Given the description of an element on the screen output the (x, y) to click on. 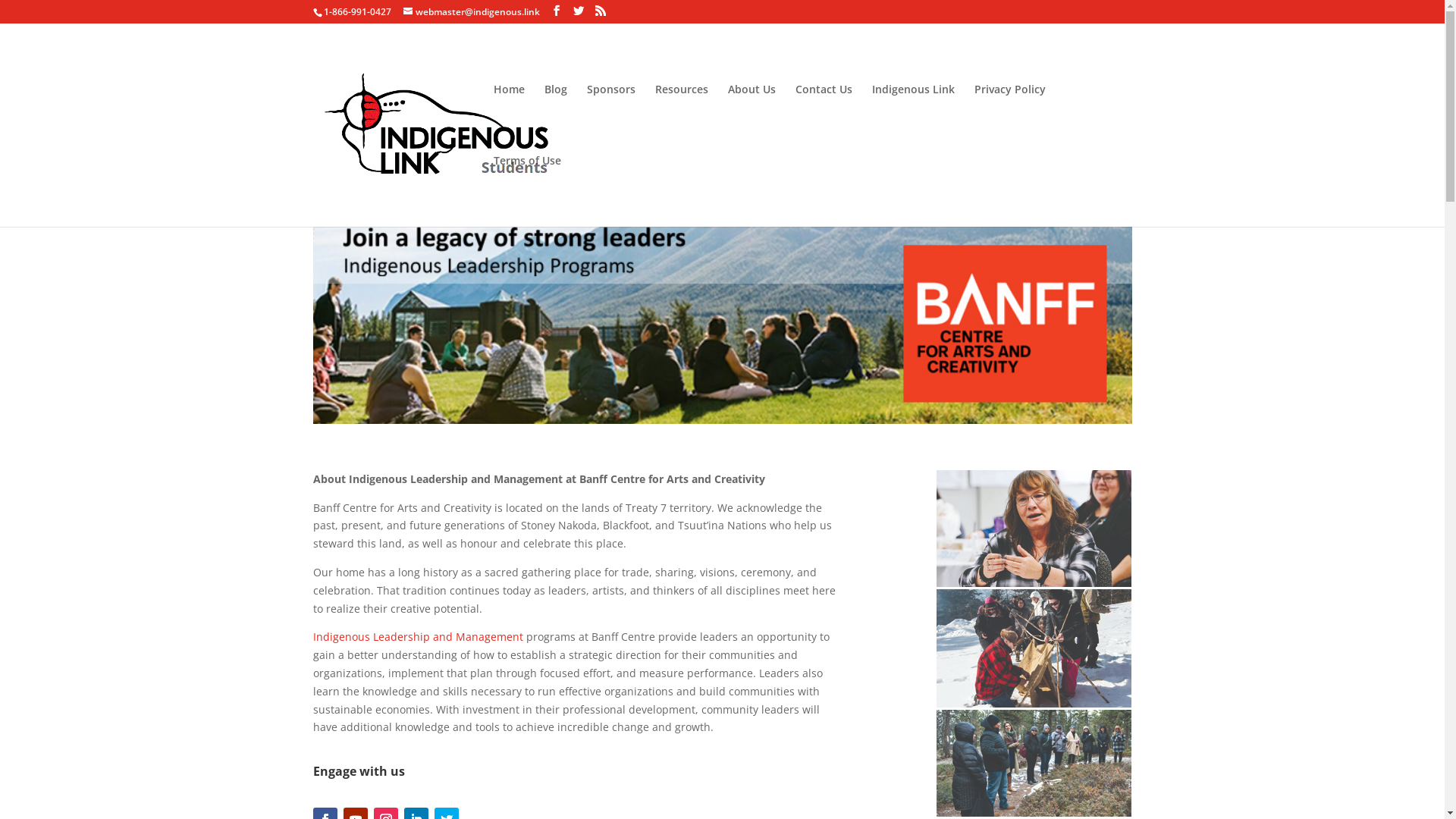
Indigenous Link Element type: text (913, 119)
Indigenous Leadership and Management Element type: text (417, 636)
Terms of Use Element type: text (526, 190)
webmaster@indigenous.link Element type: text (471, 11)
Home Element type: text (508, 119)
Sponsors Element type: text (610, 119)
Privacy Policy Element type: text (1008, 119)
Blog Element type: text (555, 119)
Contact Us Element type: text (822, 119)
Resources Element type: text (681, 119)
About Us Element type: text (751, 119)
